Given the description of an element on the screen output the (x, y) to click on. 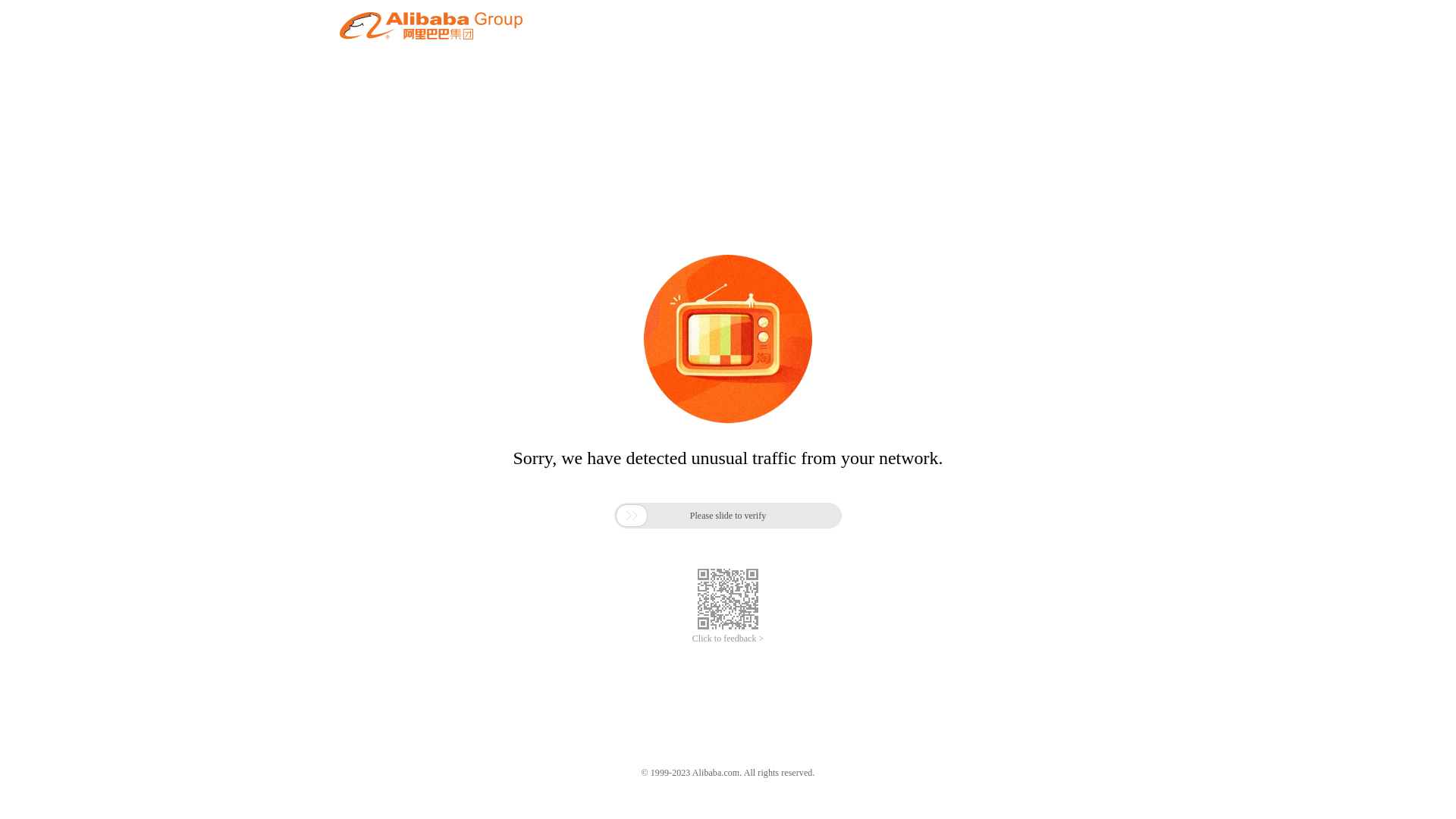
Click to feedback > Element type: text (727, 638)
